Given the description of an element on the screen output the (x, y) to click on. 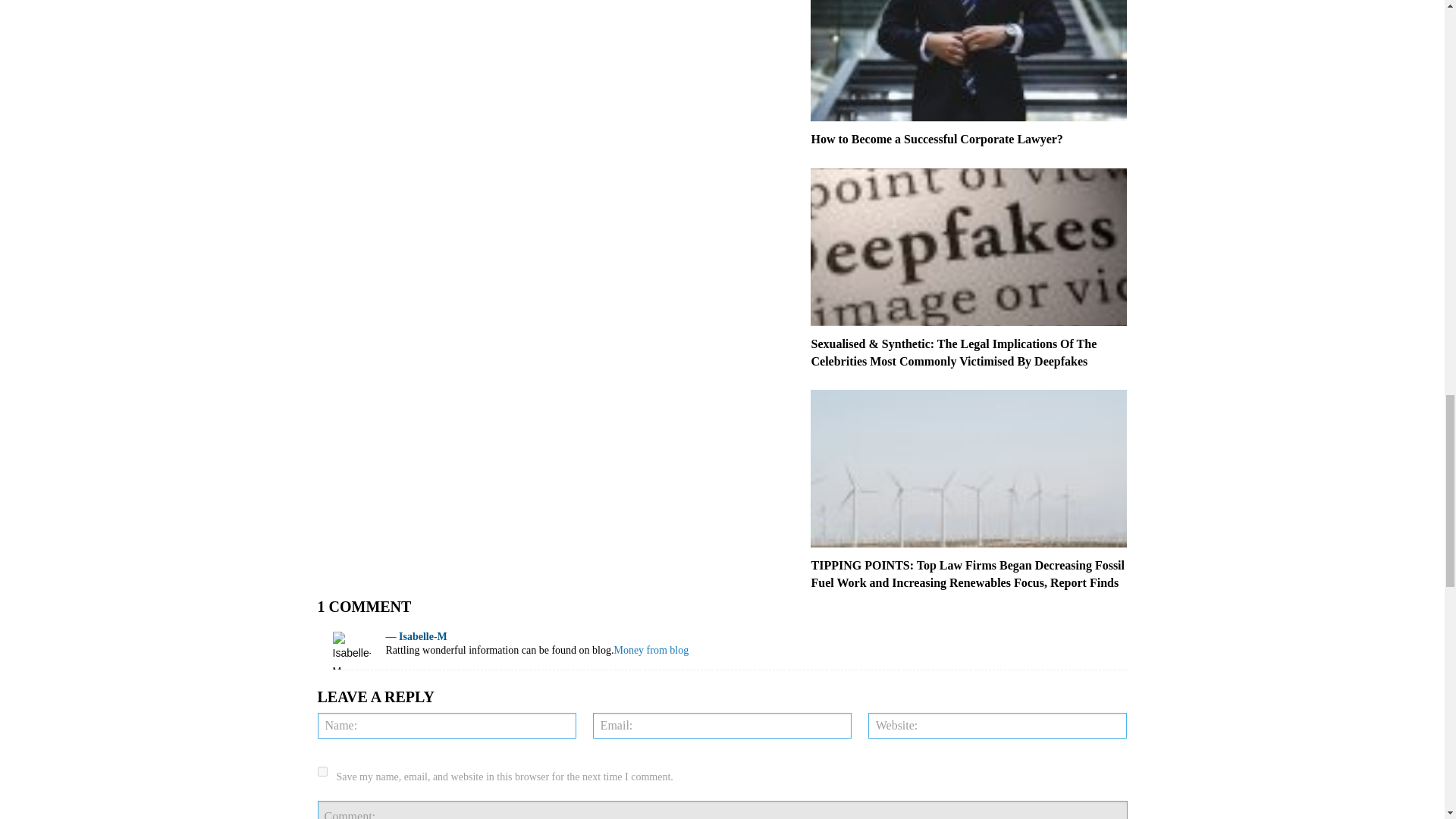
yes (321, 771)
